Given the description of an element on the screen output the (x, y) to click on. 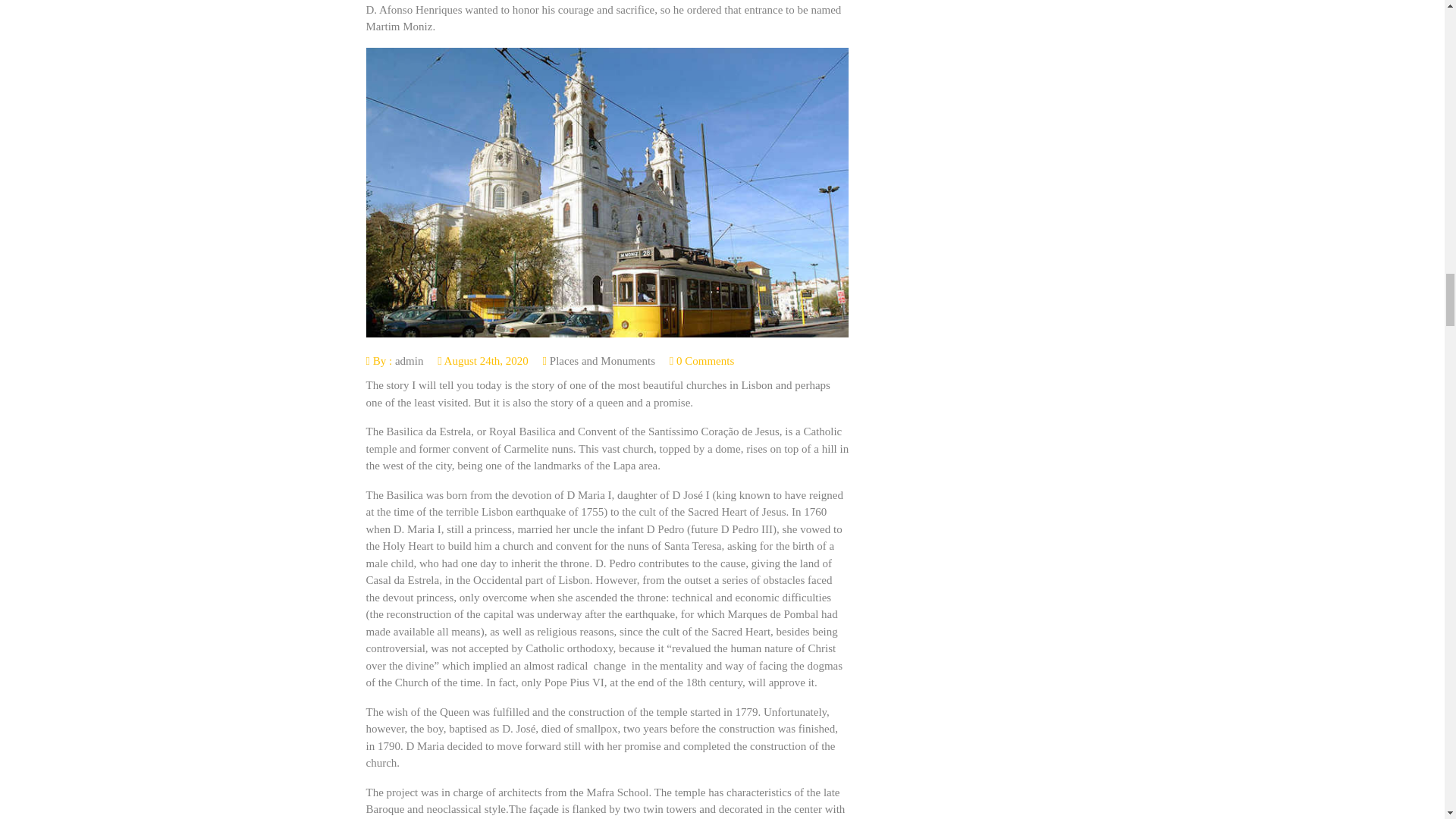
admin (408, 360)
Posts by admin (408, 360)
Places and Monuments (602, 360)
